Given the description of an element on the screen output the (x, y) to click on. 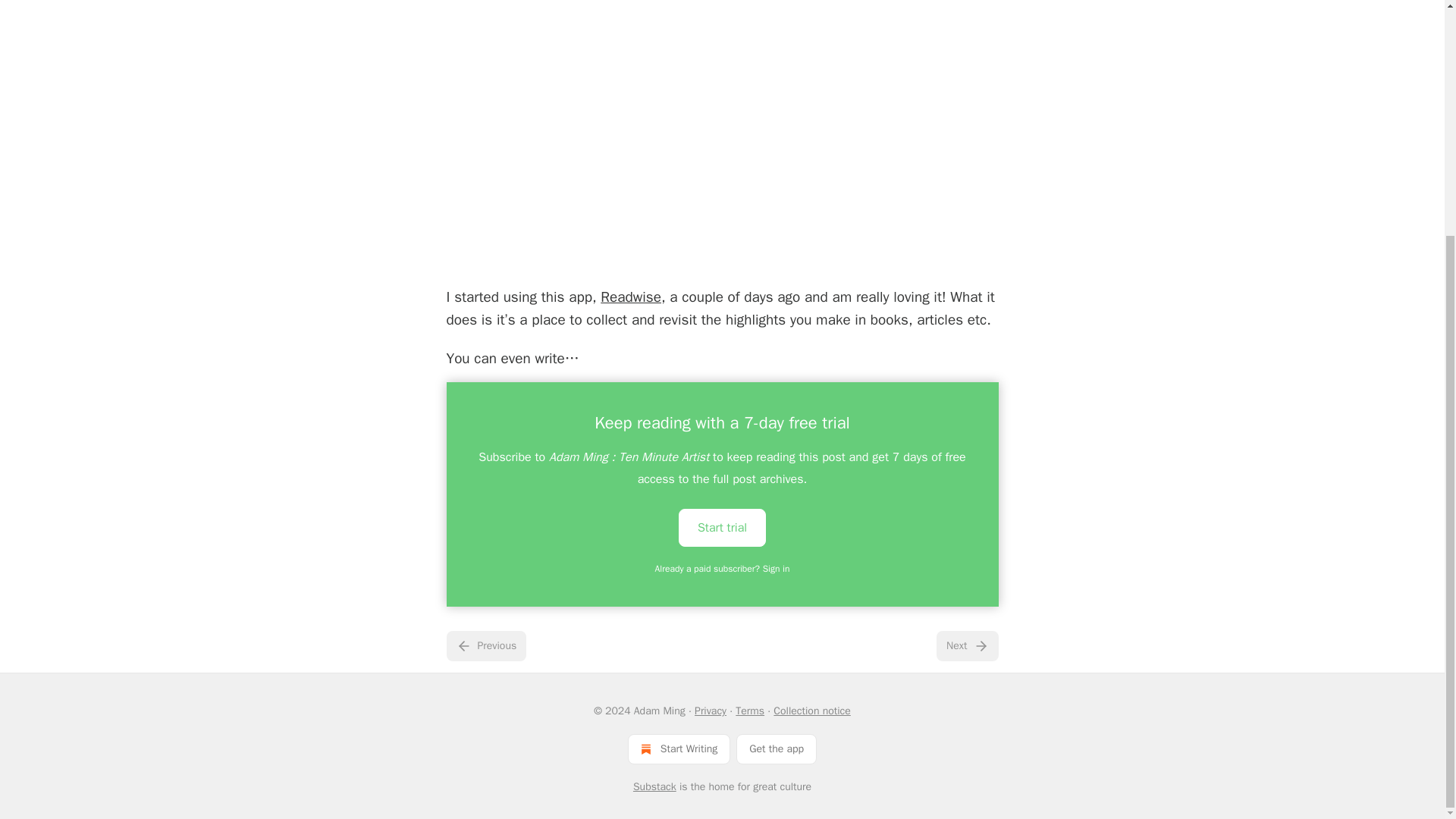
Privacy (710, 710)
Readwise (630, 297)
Substack (655, 786)
Start Writing (678, 748)
Collection notice (811, 710)
Start trial (721, 527)
Already a paid subscriber? Sign in (722, 568)
Get the app (776, 748)
Previous (485, 645)
Terms (749, 710)
